Given the description of an element on the screen output the (x, y) to click on. 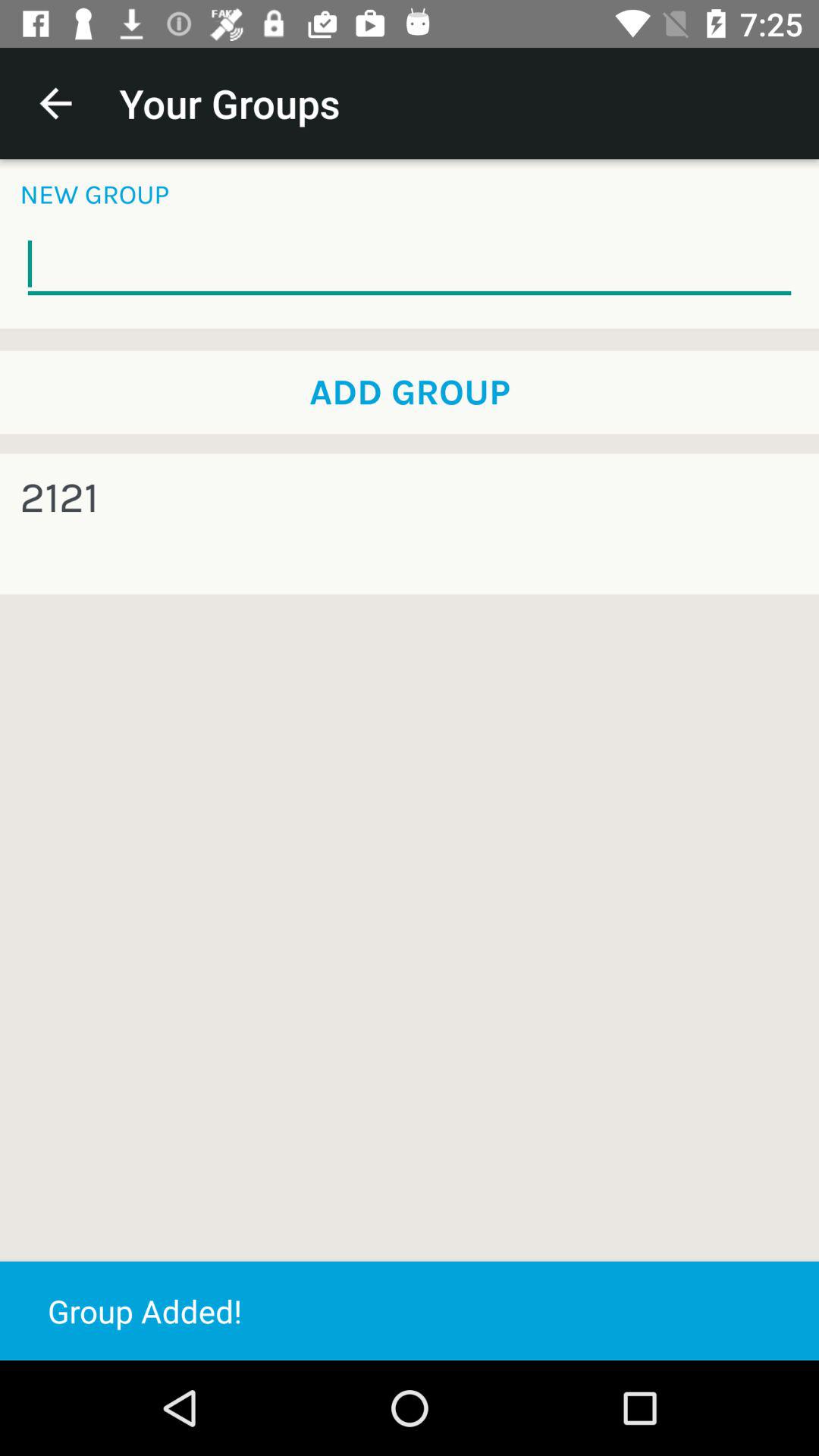
turn off app next to your groups (55, 103)
